Given the description of an element on the screen output the (x, y) to click on. 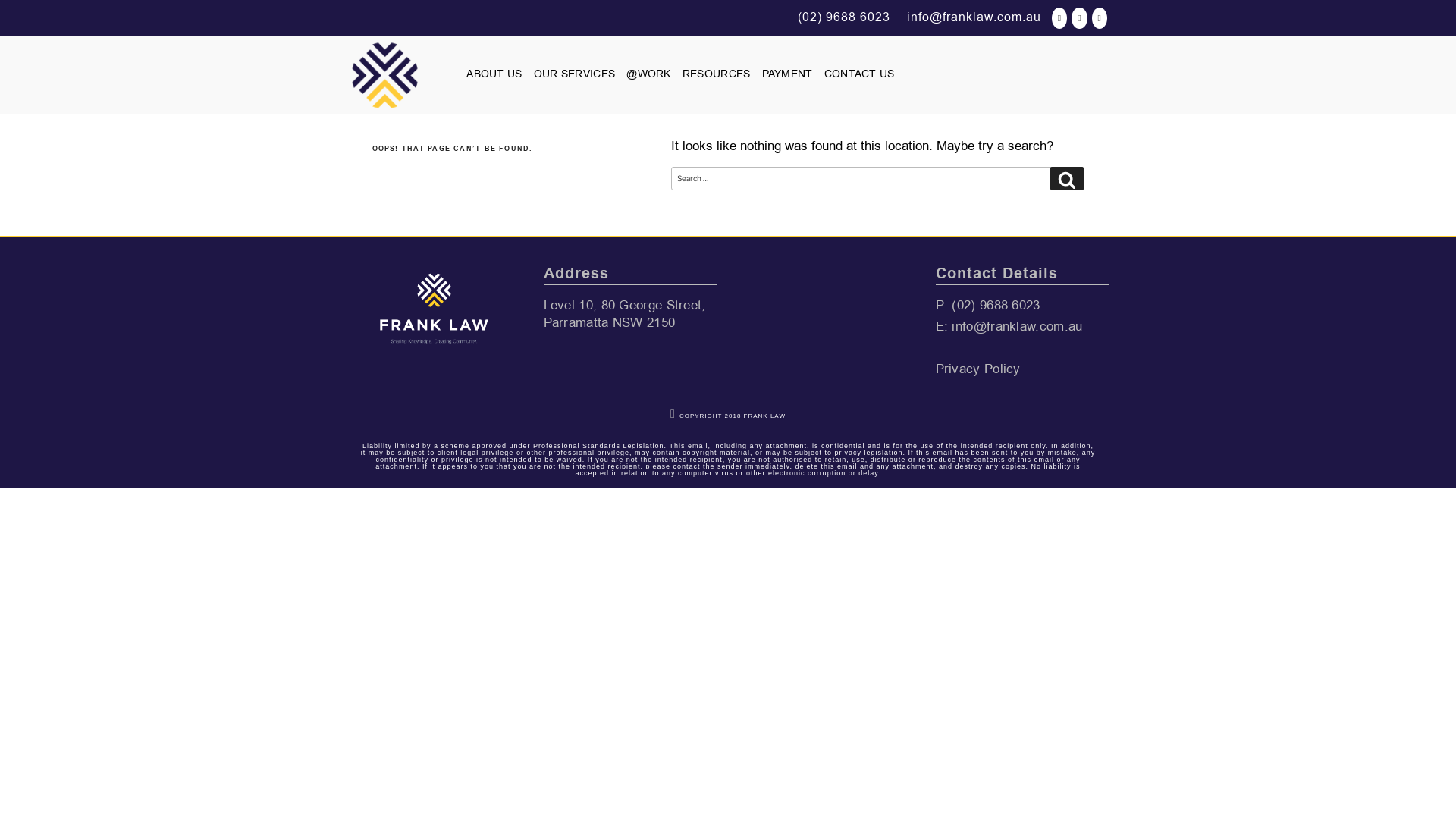
@WORK Element type: text (648, 74)
Privacy Policy Element type: text (977, 368)
RESOURCES Element type: text (716, 74)
PAYMENT Element type: text (786, 74)
ABOUT US Element type: text (493, 74)
info@franklaw.com.au Element type: text (1016, 326)
CONTACT US Element type: text (859, 74)
OUR SERVICES Element type: text (574, 74)
Send Element type: text (722, 551)
